Given the description of an element on the screen output the (x, y) to click on. 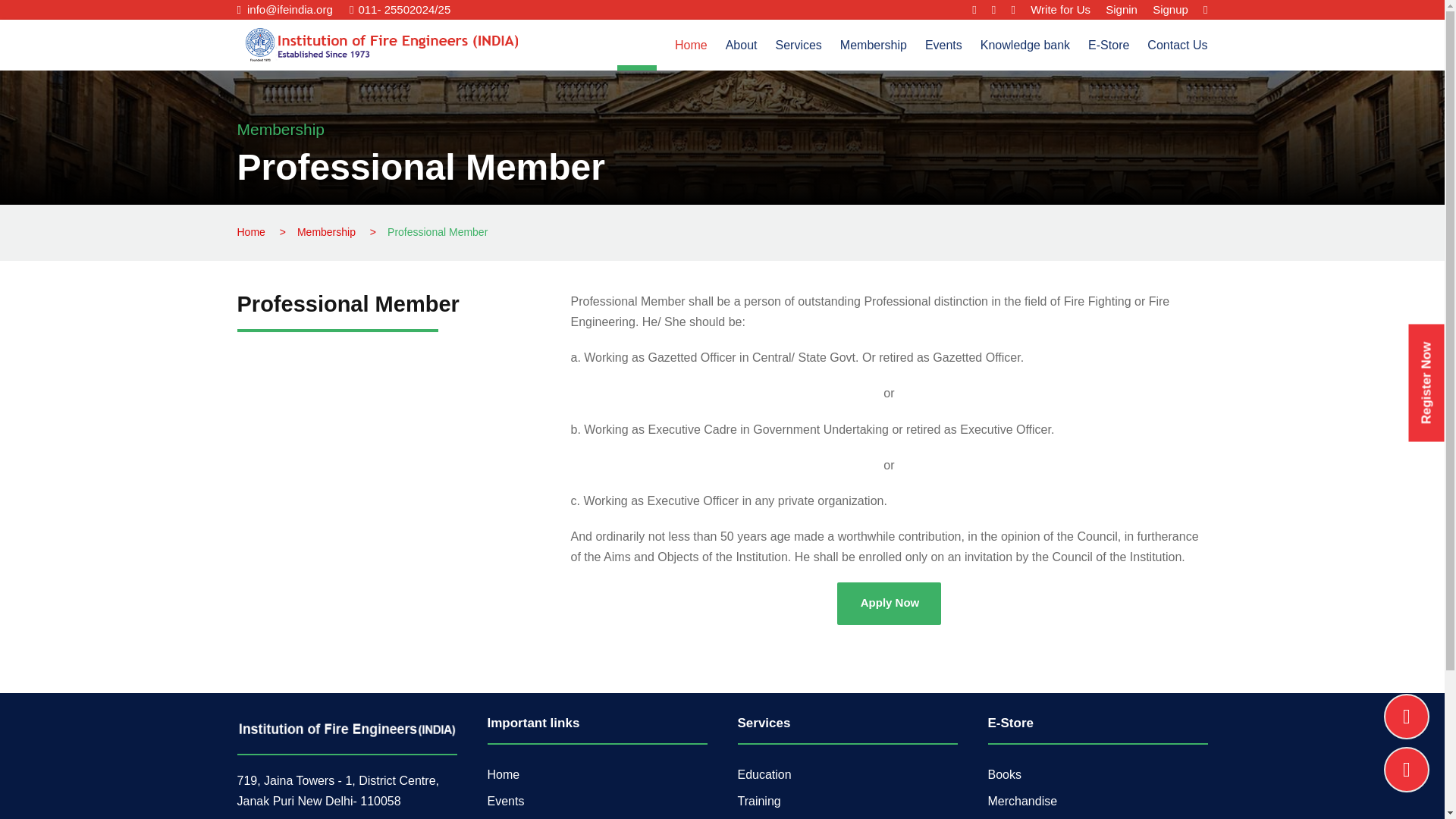
Go to Kingster. (249, 232)
Contact Us Now (1406, 716)
Contact Us Now (1406, 769)
